Given the description of an element on the screen output the (x, y) to click on. 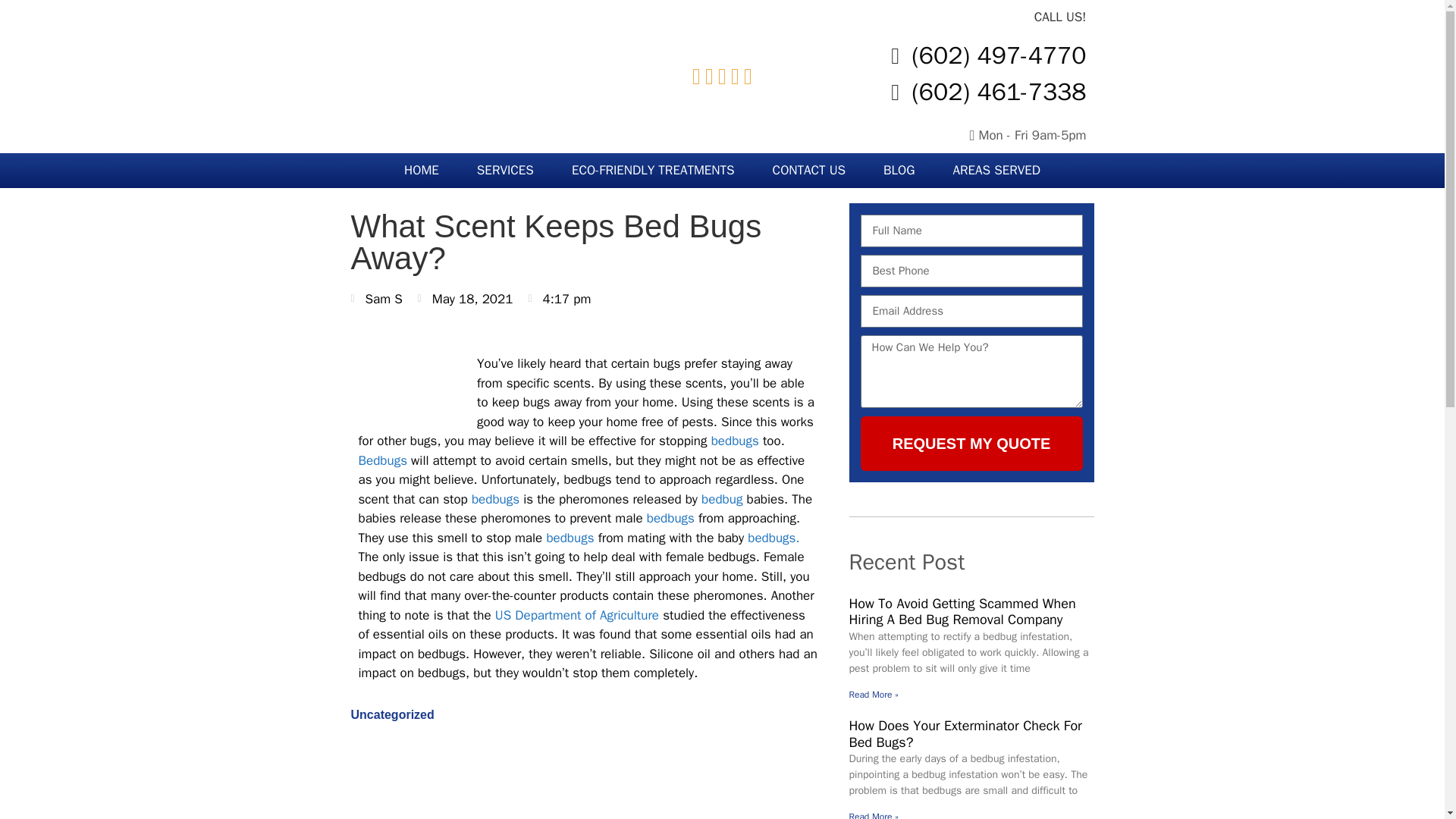
CONTACT US (809, 170)
SERVICES (505, 170)
AREAS SERVED (996, 170)
HOME (421, 170)
ECO-FRIENDLY TREATMENTS (653, 170)
BLOG (898, 170)
